Given the description of an element on the screen output the (x, y) to click on. 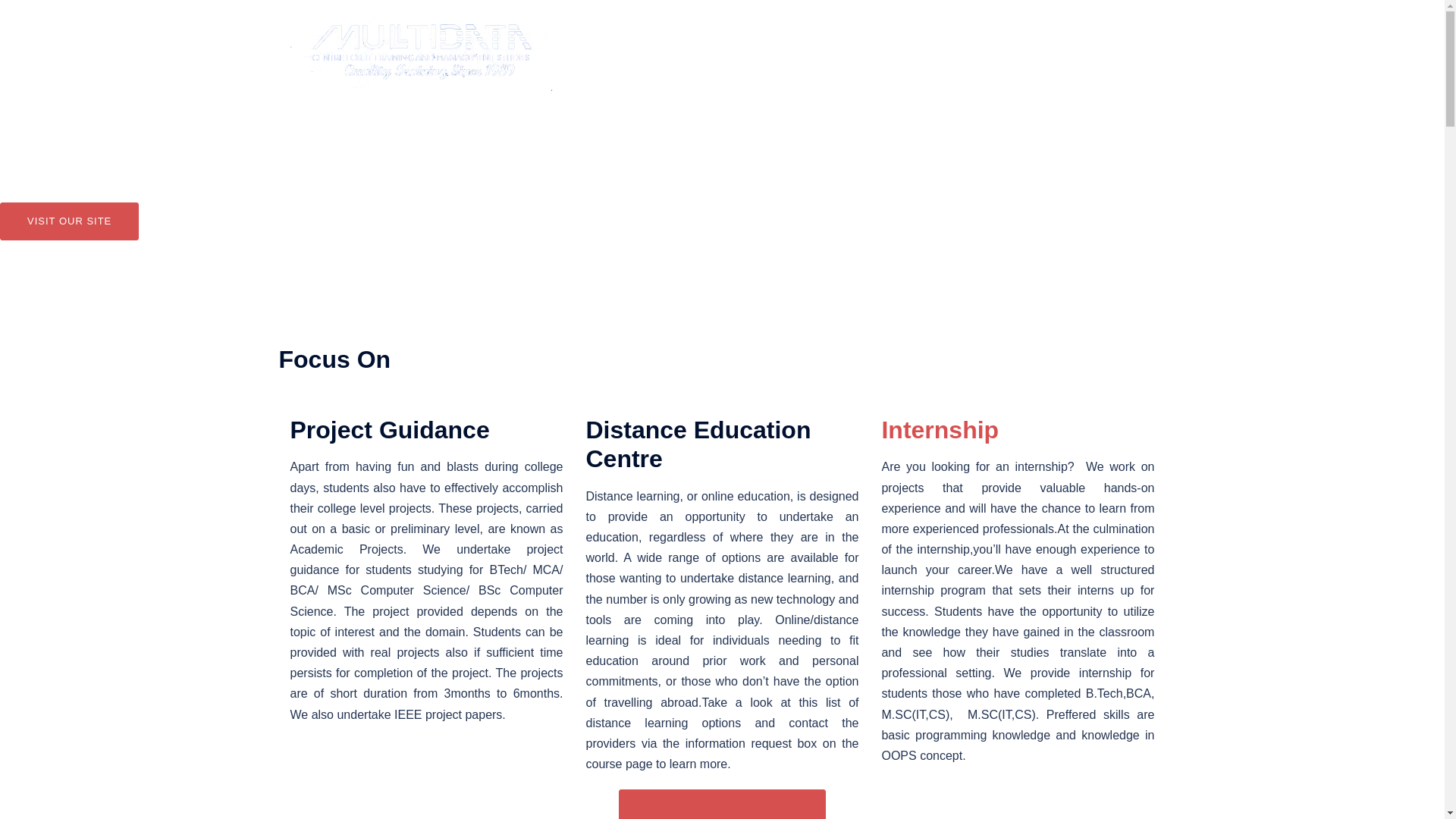
About Us (668, 44)
GSTIN :32AJYPK4180A1ZA (1055, 44)
StudyHere (735, 44)
VISIT OUR SITE (69, 221)
Internship (939, 429)
SEE SOME MORE SERVICES (722, 804)
UAN :KL12E0012054 (646, 62)
Contact Us (940, 44)
Multi Data India (420, 51)
Home (609, 44)
